Given the description of an element on the screen output the (x, y) to click on. 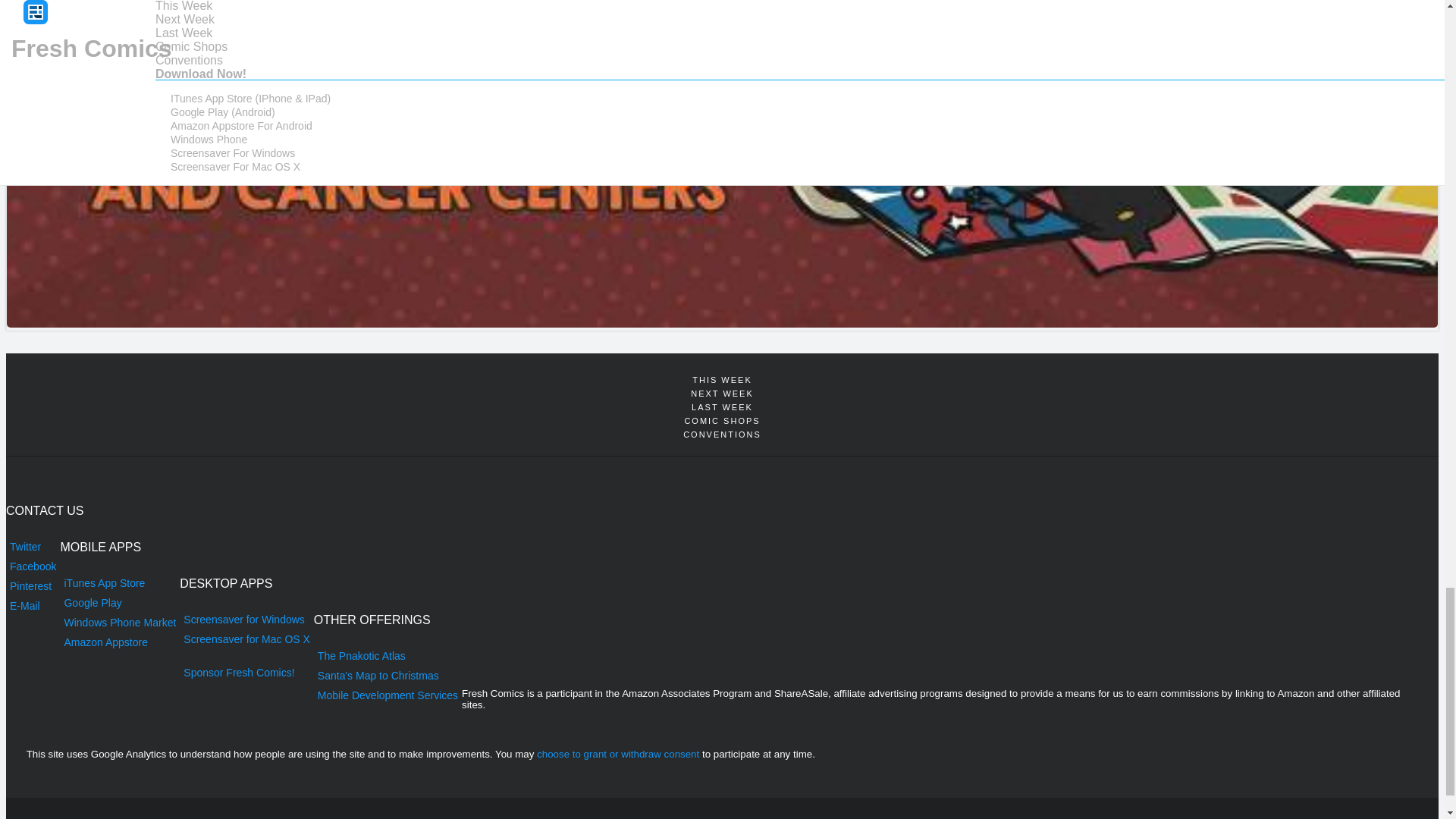
E-Mail (32, 605)
Facebook (32, 566)
iTunes App Store (119, 582)
Pinterest (32, 586)
Google Play (119, 602)
CONVENTIONS (721, 434)
THIS WEEK (722, 379)
Twitter (32, 546)
Windows Phone Market (119, 622)
The Pnakotic Atlas (387, 655)
Mobile Development Services (387, 695)
Santa's Map to Christmas (387, 675)
NEXT WEEK (721, 393)
Screensaver for Mac OS X (246, 639)
Amazon Appstore (119, 641)
